Given the description of an element on the screen output the (x, y) to click on. 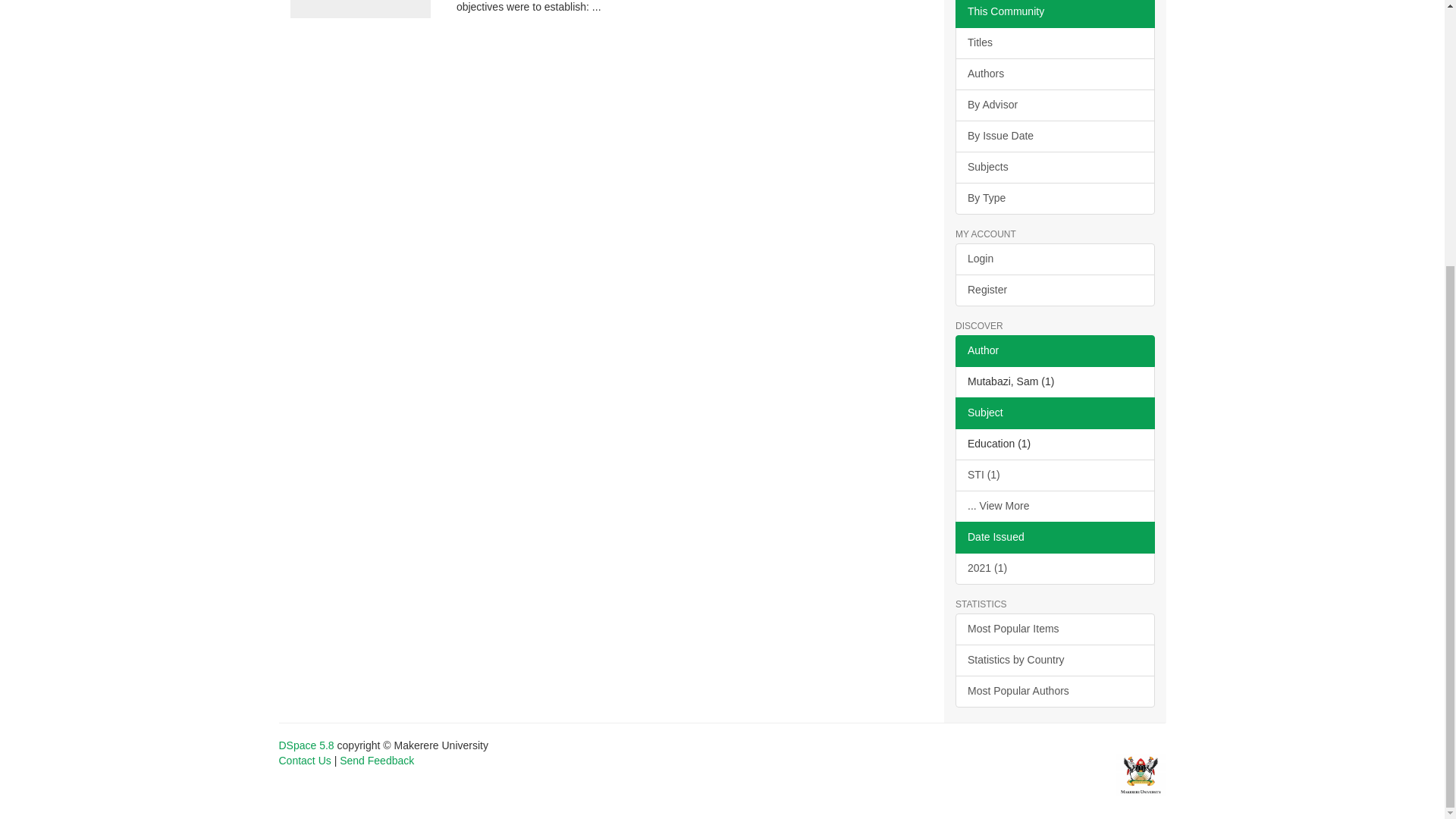
Atmire NV (1141, 774)
